Given the description of an element on the screen output the (x, y) to click on. 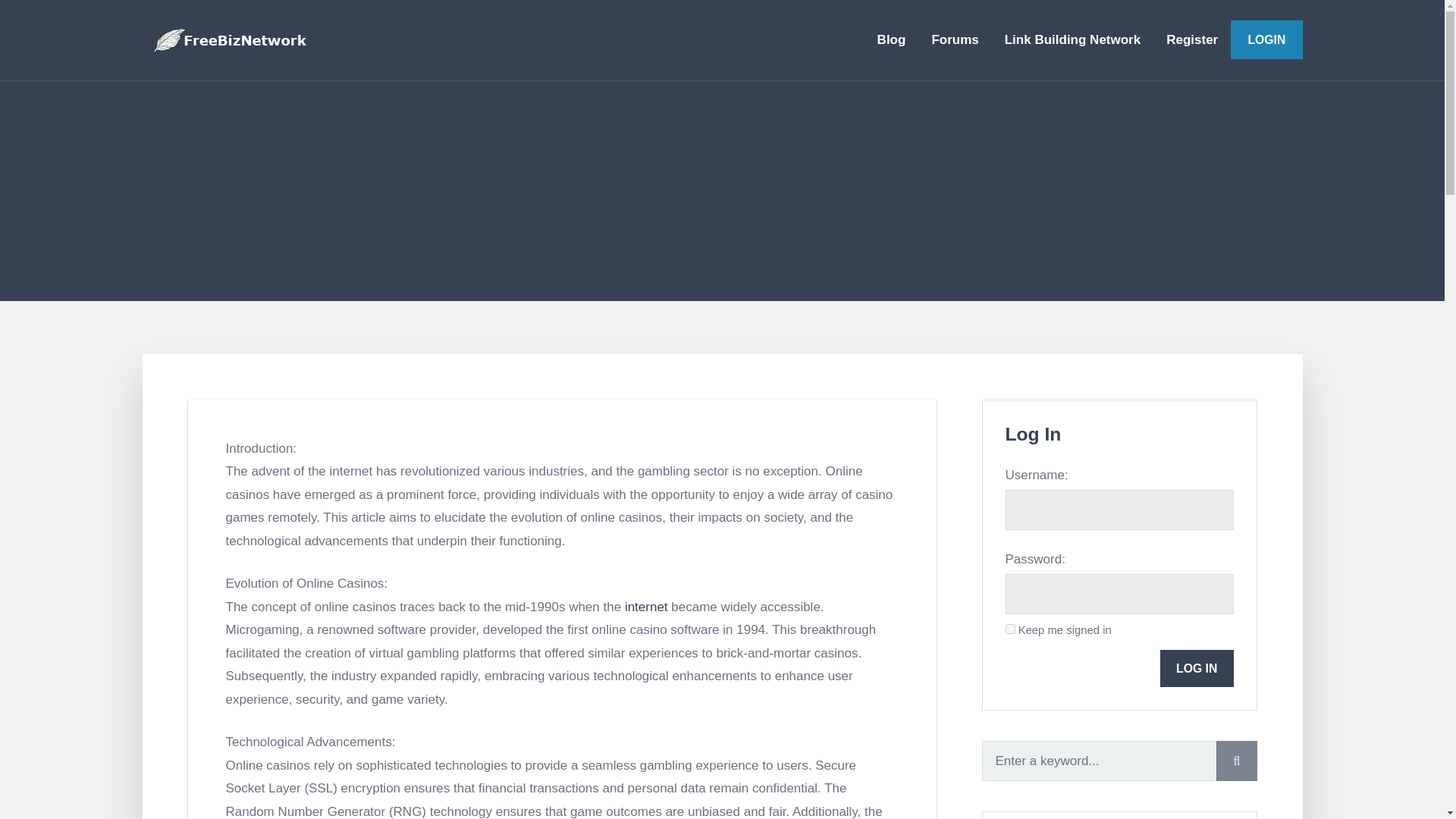
LOGIN (1265, 39)
Forums (954, 40)
internet (646, 606)
Link Building Network (1072, 40)
forever (1010, 628)
LOG IN (1196, 668)
Blog (891, 40)
Register (1191, 40)
